Given the description of an element on the screen output the (x, y) to click on. 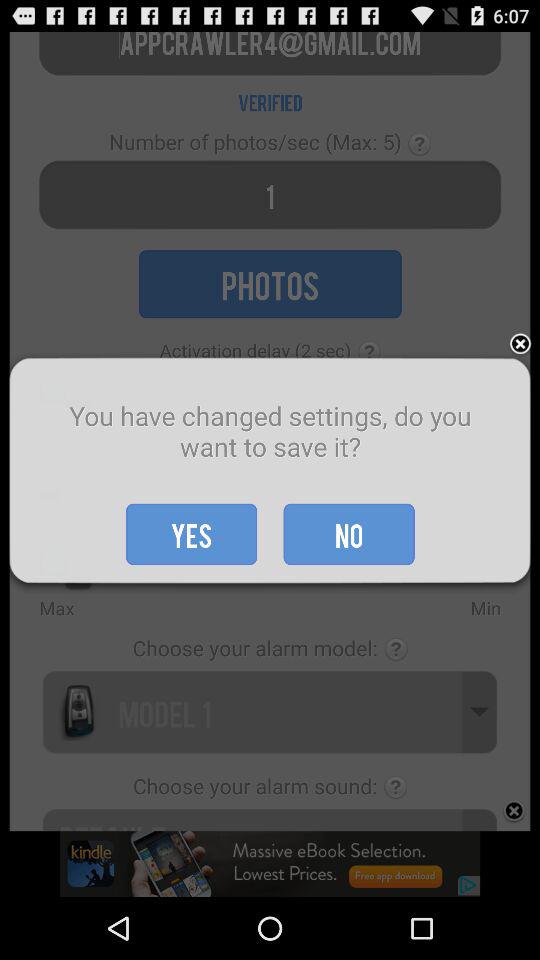
tap the yes icon (191, 534)
